Given the description of an element on the screen output the (x, y) to click on. 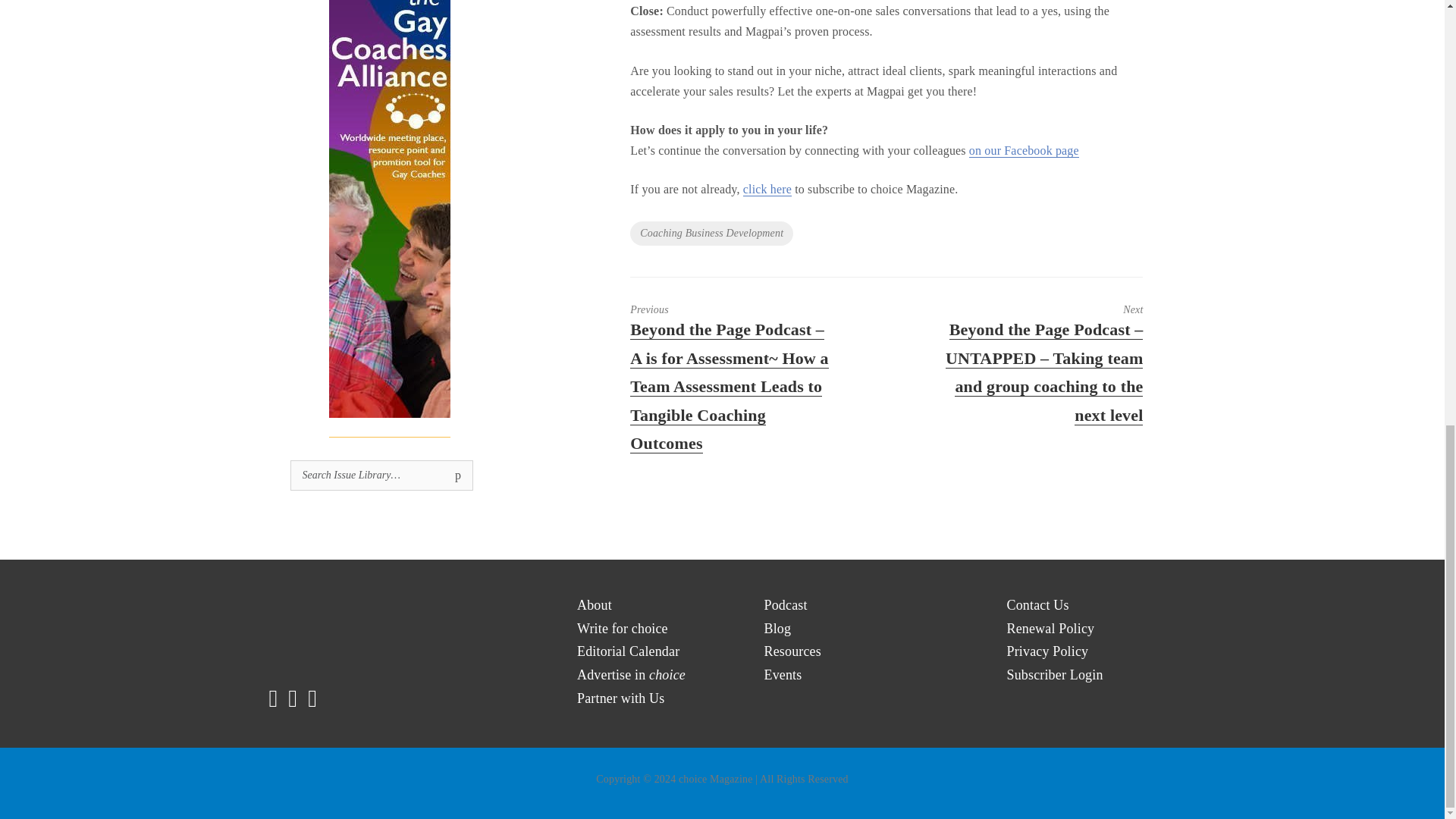
Partner with Us (619, 698)
Coaching Business Development (711, 233)
Podcast (786, 605)
click here (767, 189)
Editorial Calendar (627, 651)
on our Facebook page (1023, 151)
Search for: (381, 475)
Advertise in choice (630, 675)
About (593, 605)
Blog (778, 628)
Write for choice (622, 628)
